Given the description of an element on the screen output the (x, y) to click on. 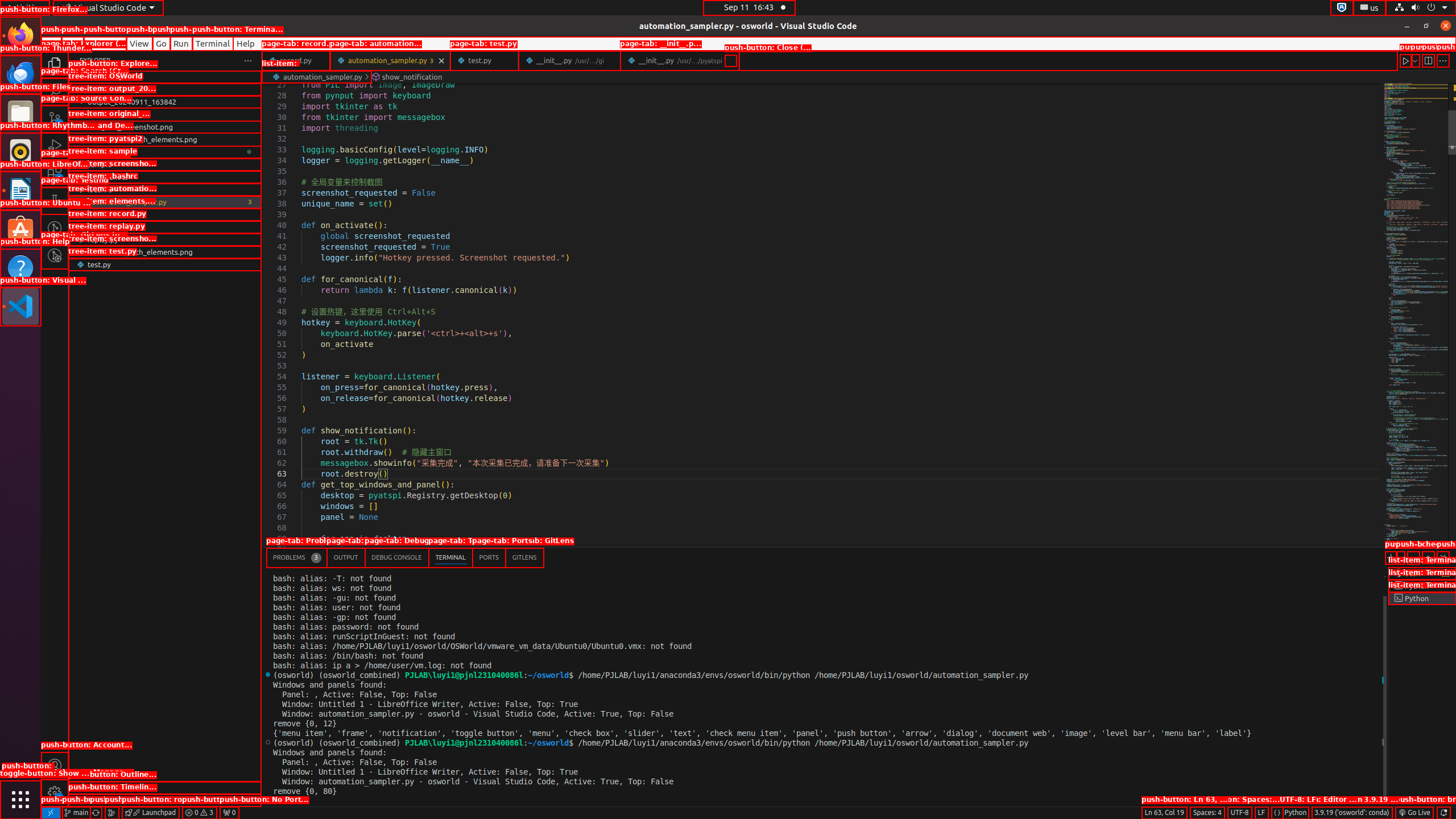
Edit Element type: push-button (72, 43)
Notifications Element type: push-button (1443, 812)
Spaces: 4 Element type: push-button (1206, 812)
